Given the description of an element on the screen output the (x, y) to click on. 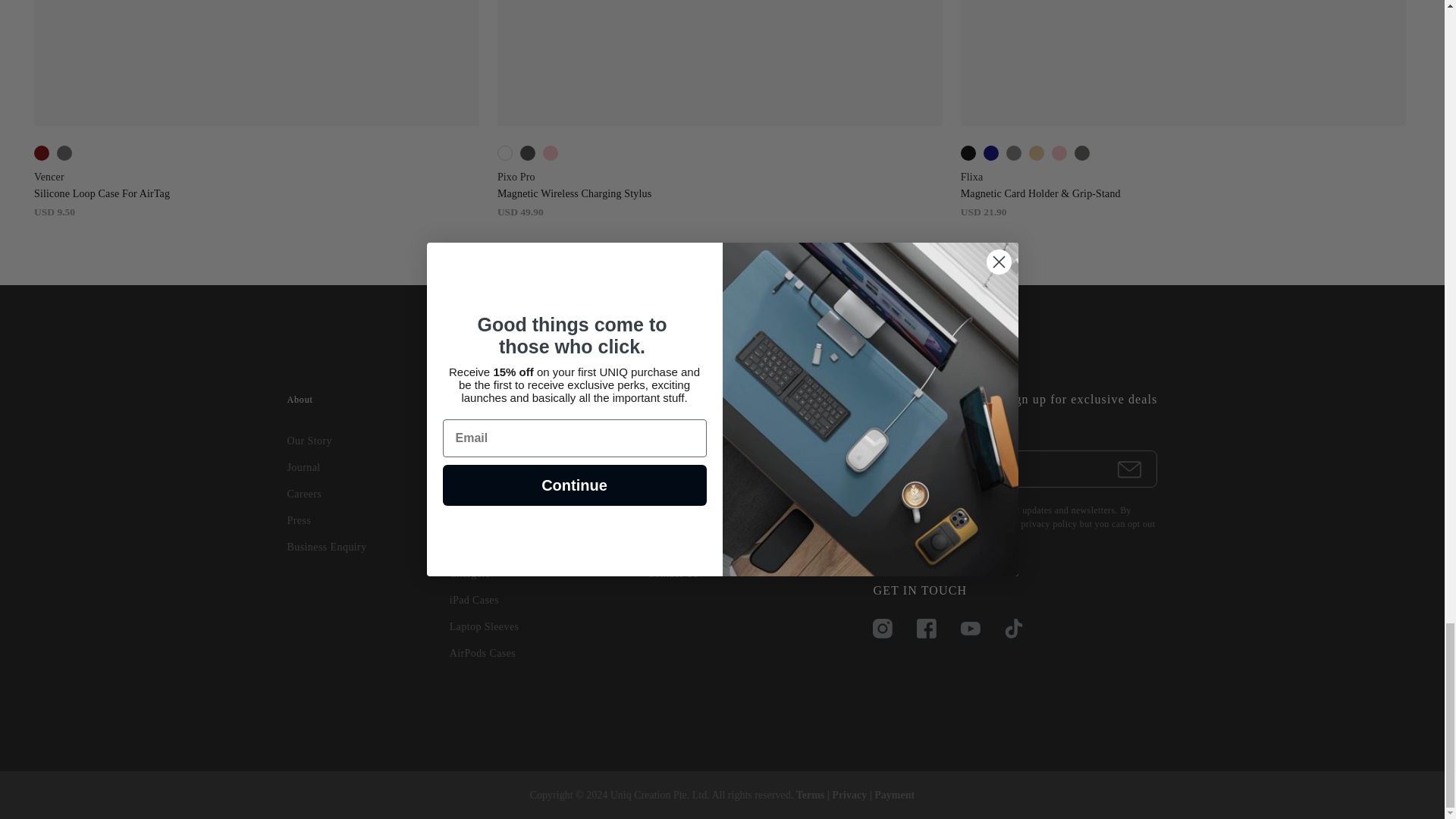
Pink (1058, 152)
White (504, 152)
Navy (989, 152)
Black (967, 152)
DarkGrey (526, 152)
CanaryYellow (1035, 152)
DarkGrey (1430, 152)
Pink (549, 152)
DimGray (63, 152)
LichenGreen (1081, 152)
Maroon (40, 152)
Grey (1013, 152)
